Given the description of an element on the screen output the (x, y) to click on. 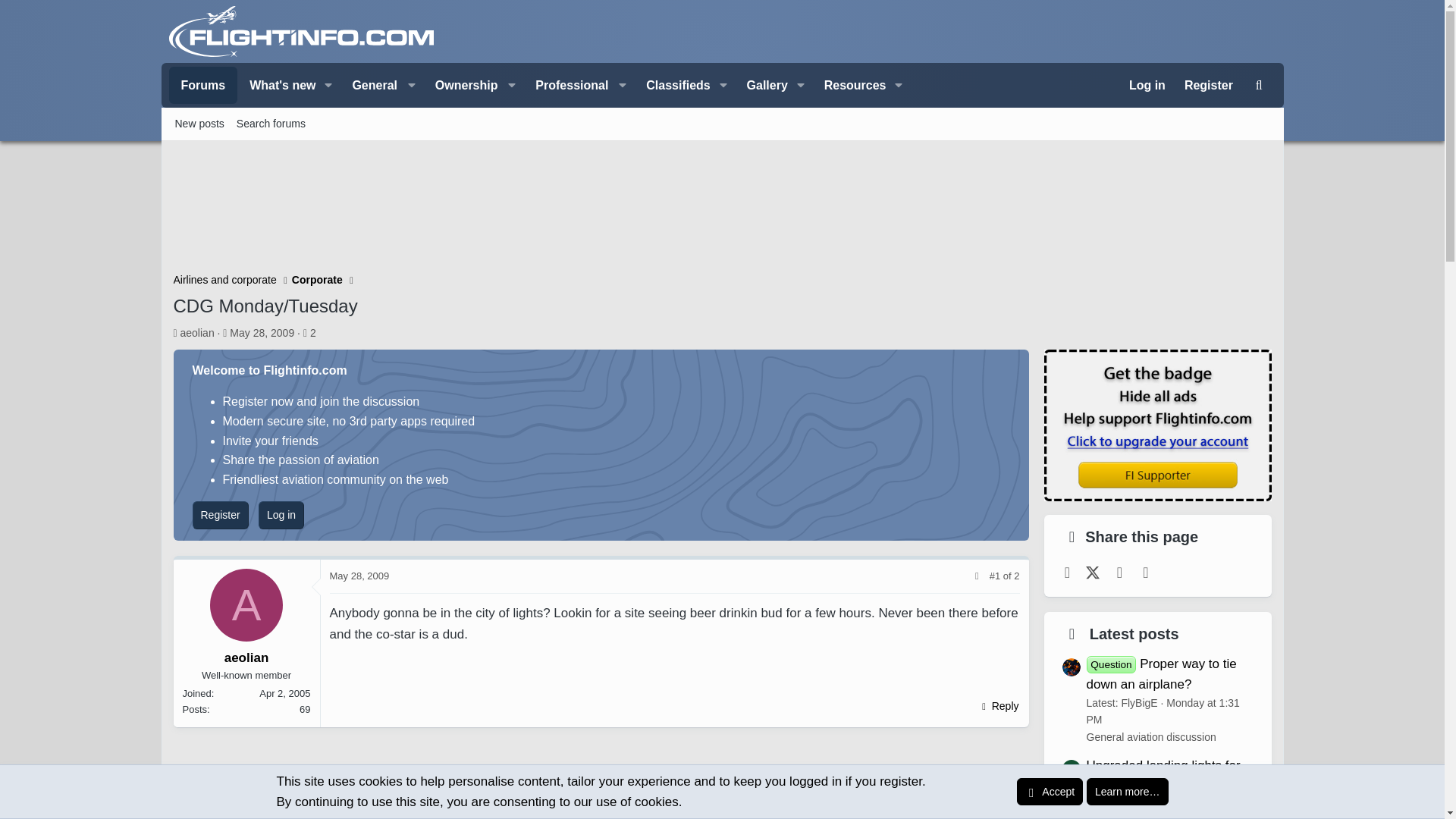
General (380, 85)
May 28, 2009 at 7:29 PM (262, 332)
Jul 29, 2024 at 1:31 PM (1162, 710)
Reply, quoting this message (998, 705)
May 28, 2009 at 7:29 PM (358, 575)
Forums (202, 85)
What's new (277, 85)
Search (1258, 85)
